Given the description of an element on the screen output the (x, y) to click on. 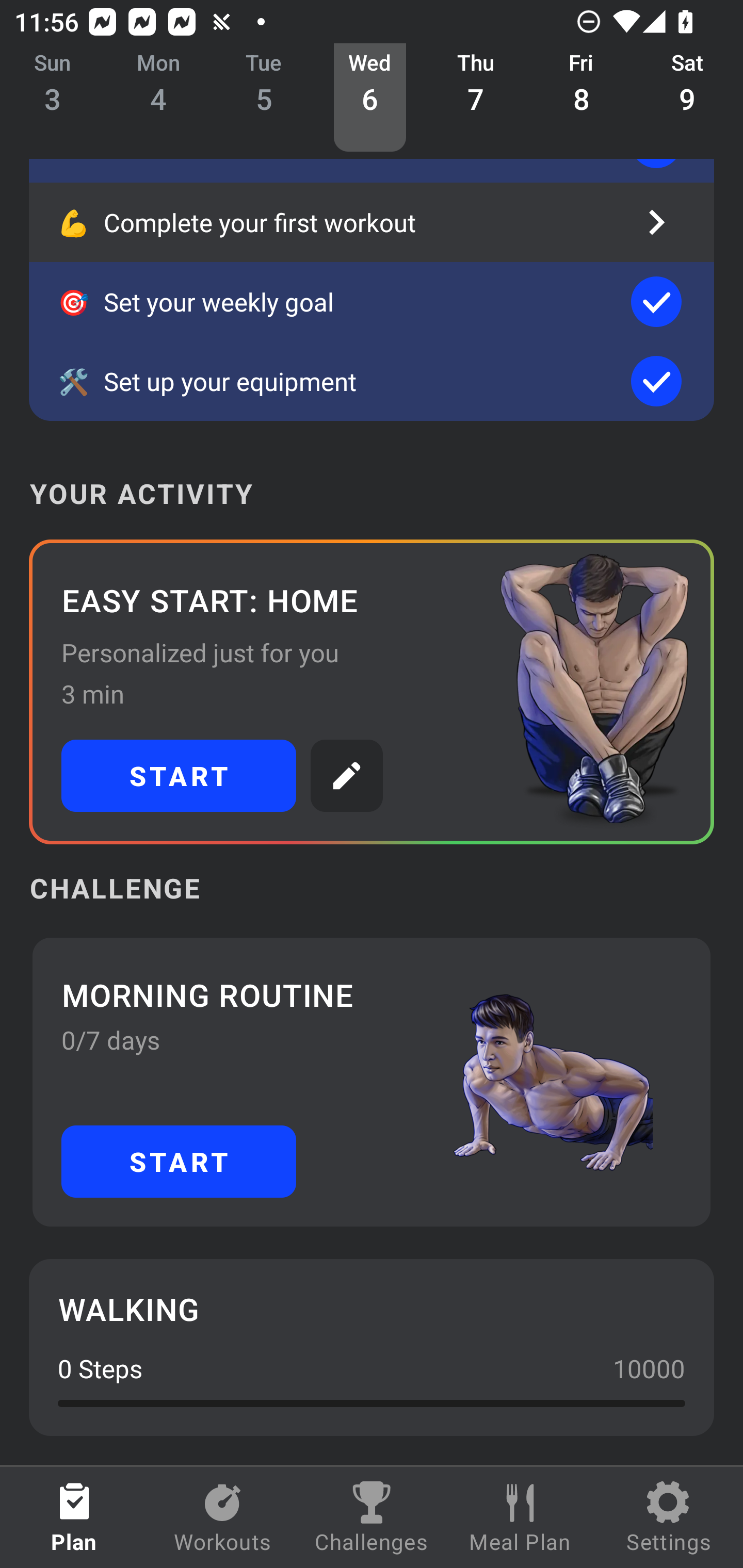
Sun 3 (52, 97)
Mon 4 (158, 97)
Tue 5 (264, 97)
Wed 6 (369, 97)
Thu 7 (475, 97)
Fri 8 (581, 97)
Sat 9 (687, 97)
💪 Complete your first workout (371, 221)
START (178, 776)
MORNING ROUTINE 0/7 days START (371, 1082)
START (178, 1161)
WALKING 0 Steps 10000 0.0 (371, 1347)
 Workouts  (222, 1517)
 Challenges  (371, 1517)
 Meal Plan  (519, 1517)
 Settings  (668, 1517)
